Given the description of an element on the screen output the (x, y) to click on. 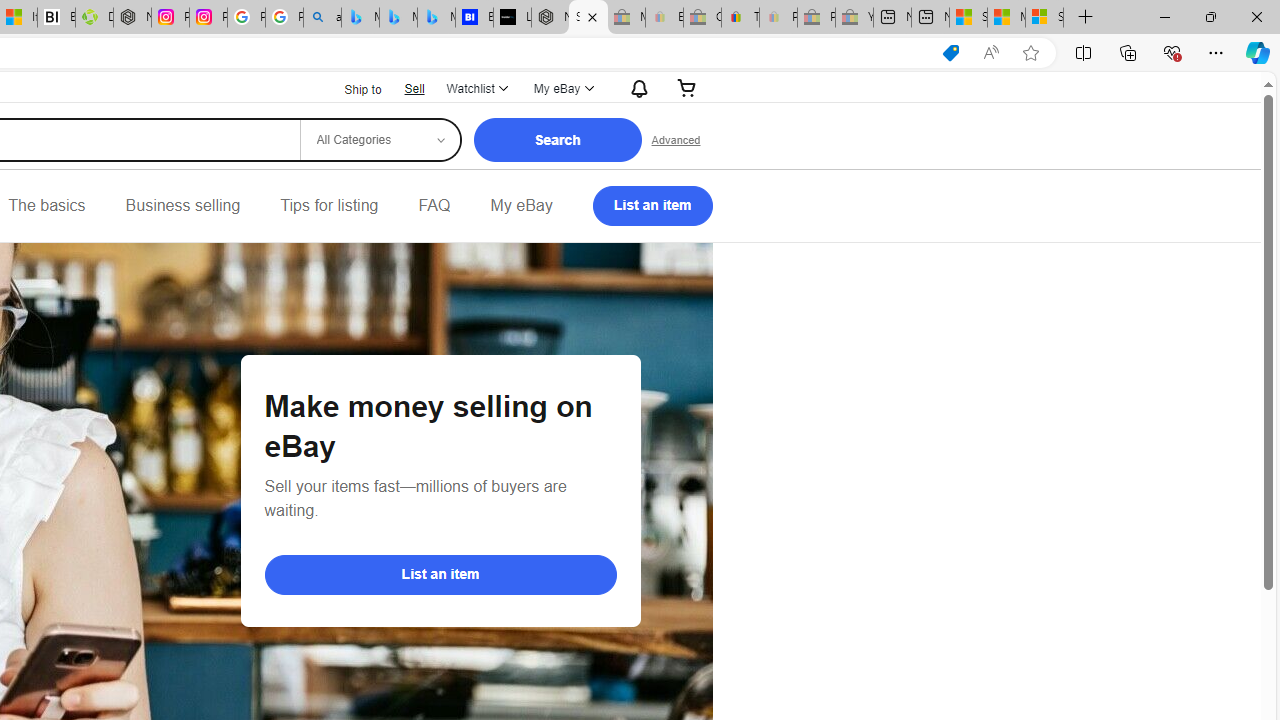
Sell (414, 87)
Your shopping cart (687, 88)
AutomationID: gh-eb-Alerts (636, 88)
List an item (651, 205)
Microsoft Bing Travel - Flights from Hong Kong to Bangkok (359, 17)
Sign in to your Microsoft account (1044, 17)
Tips for listing (329, 205)
FAQ (434, 205)
